Given the description of an element on the screen output the (x, y) to click on. 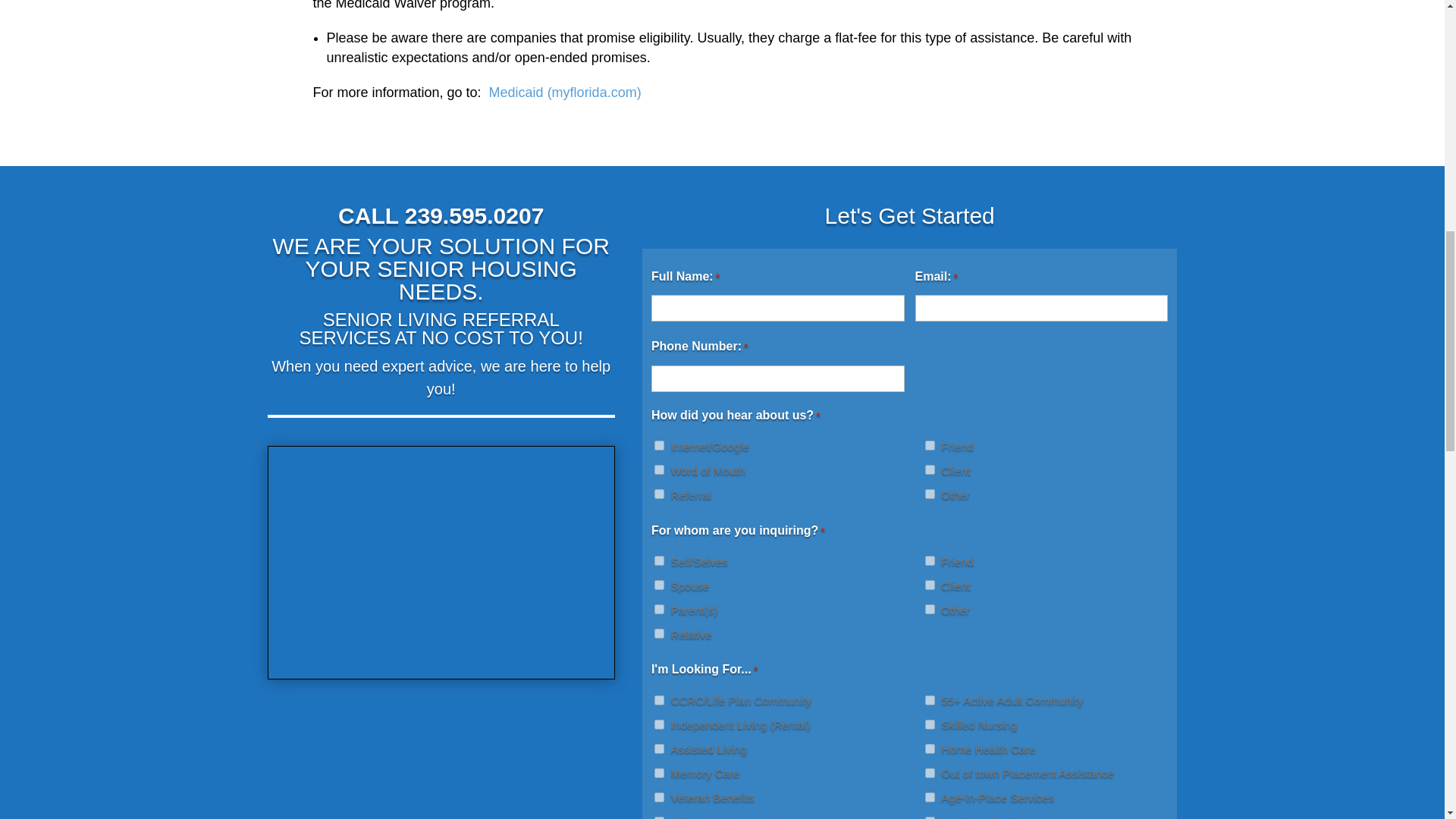
Other (929, 493)
Client (929, 470)
Skilled Nursing (929, 724)
Spouse (658, 584)
CoupleOnBeach (440, 562)
Client (929, 584)
Friend (929, 445)
Friend (929, 560)
Word of Mouth (658, 470)
Relative (658, 633)
Other (929, 609)
Referral (658, 493)
